Given the description of an element on the screen output the (x, y) to click on. 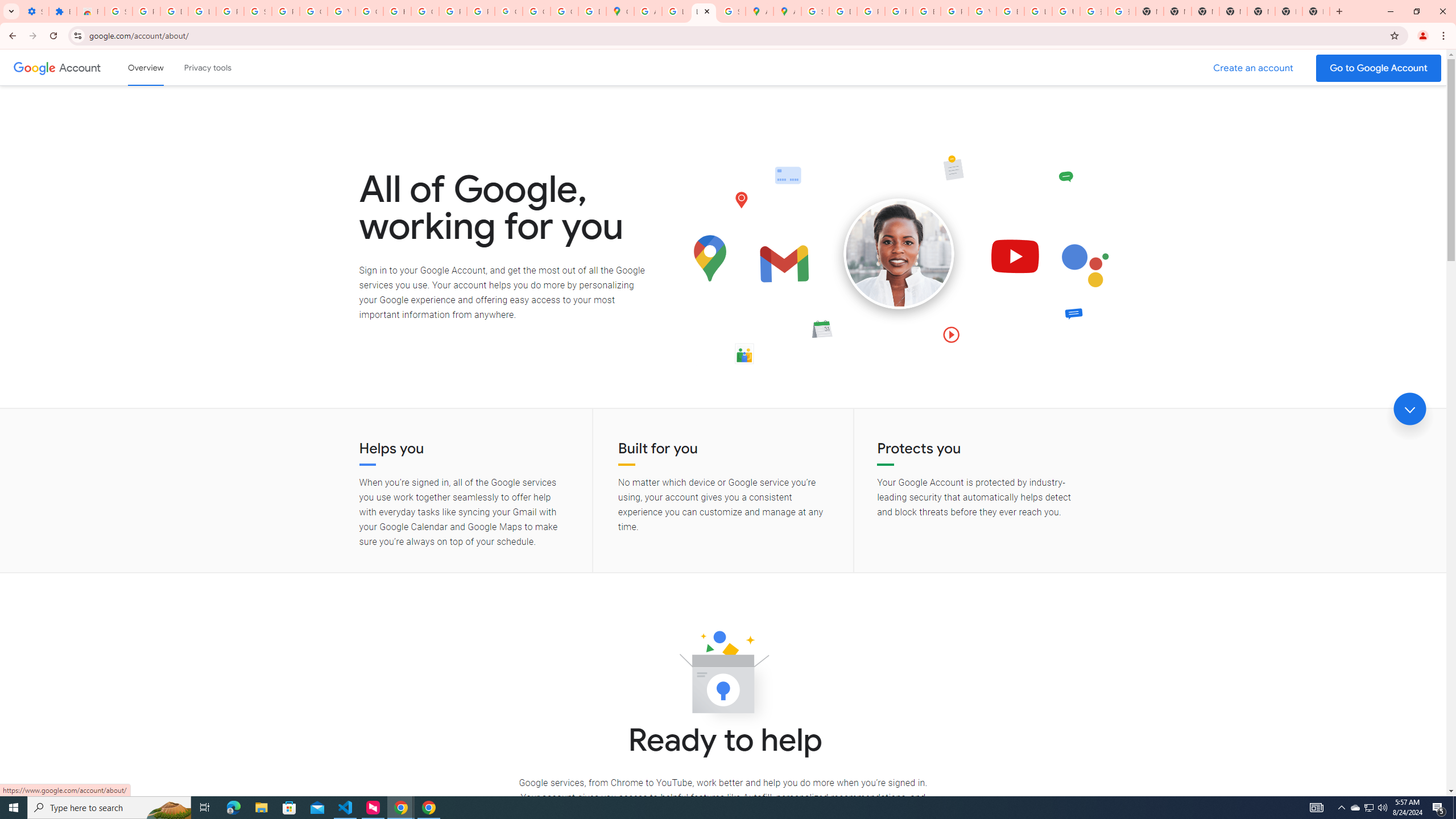
Privacy Help Center - Policies Help (870, 11)
Sign in - Google Accounts (257, 11)
Privacy Help Center - Policies Help (898, 11)
New Tab (1233, 11)
Privacy tools (207, 67)
